Given the description of an element on the screen output the (x, y) to click on. 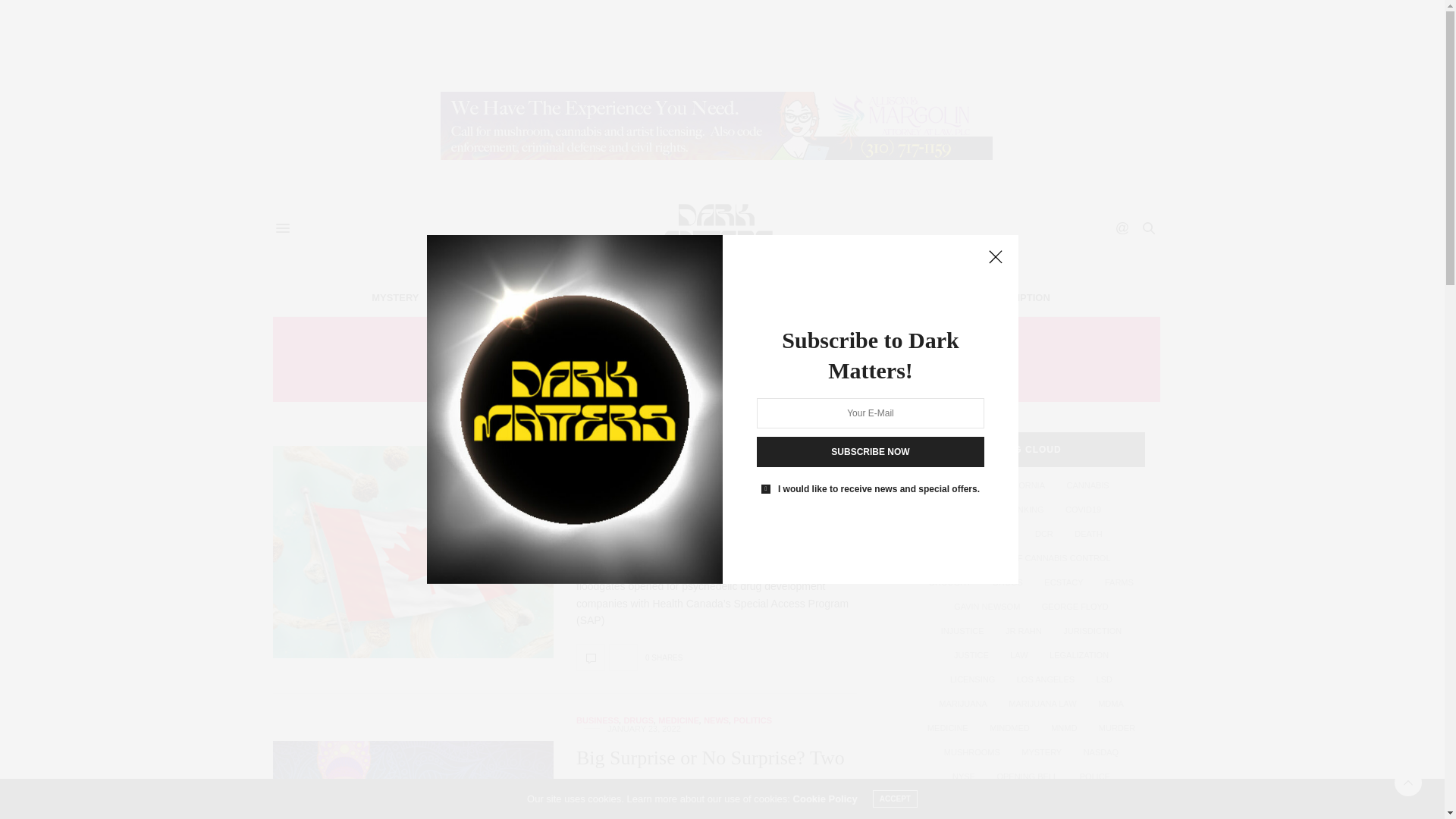
CONTACT US (920, 297)
Dark Matters Magazine (716, 227)
CONSPIRACY (600, 297)
Is Canada Becoming the World Leader in Psilocybin Therapy? (413, 551)
POLITICS (752, 436)
ART GALLERY (831, 297)
DRUGS (638, 436)
BUSINESS (597, 436)
COSMOS (678, 297)
MYSTERY (395, 297)
Is Canada Becoming the World Leader in Psilocybin Therapy? (699, 486)
MEDICINE (678, 436)
Is Canada Becoming the World Leader in Psilocybin Therapy? (590, 656)
BUSINESS (748, 297)
